Given the description of an element on the screen output the (x, y) to click on. 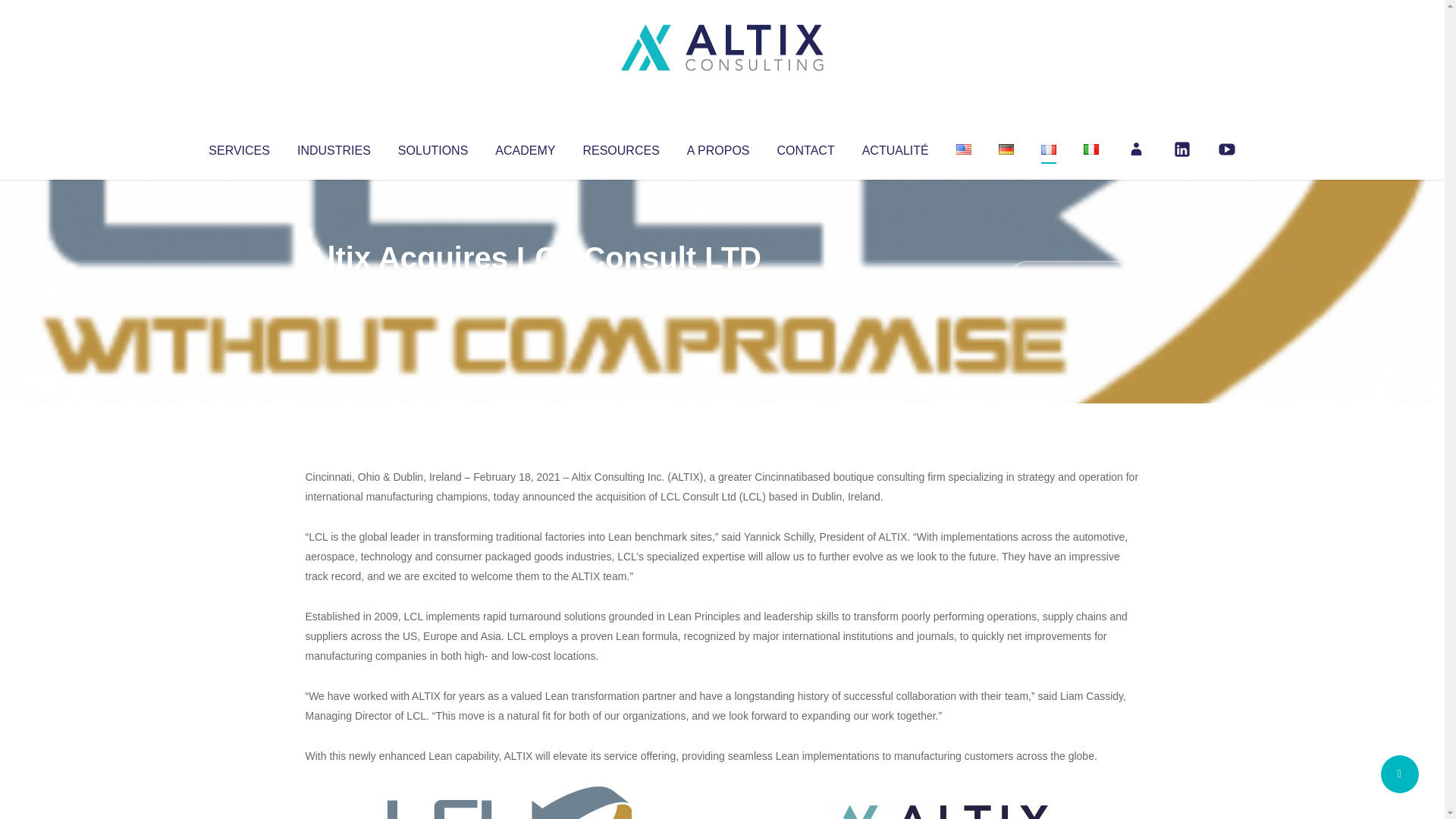
RESOURCES (620, 146)
Articles par Altix (333, 287)
Altix (333, 287)
No Comments (1073, 278)
Uncategorized (530, 287)
SERVICES (238, 146)
ACADEMY (524, 146)
INDUSTRIES (334, 146)
A PROPOS (718, 146)
SOLUTIONS (432, 146)
